Given the description of an element on the screen output the (x, y) to click on. 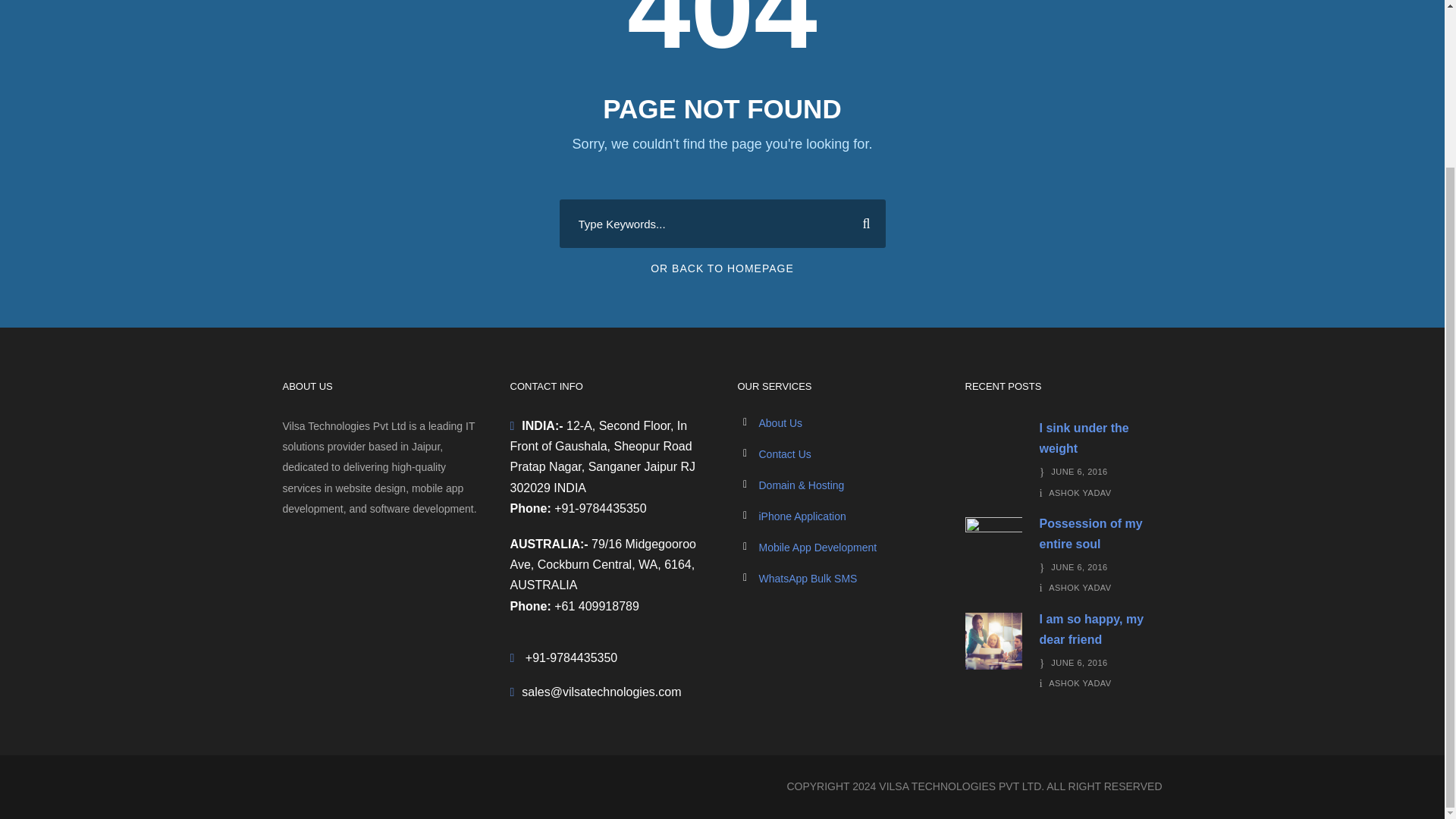
Posts by Ashok Yadav (1080, 682)
Posts by Ashok Yadav (1080, 492)
laptop-mobile (992, 449)
Posts by Ashok Yadav (1080, 587)
